Given the description of an element on the screen output the (x, y) to click on. 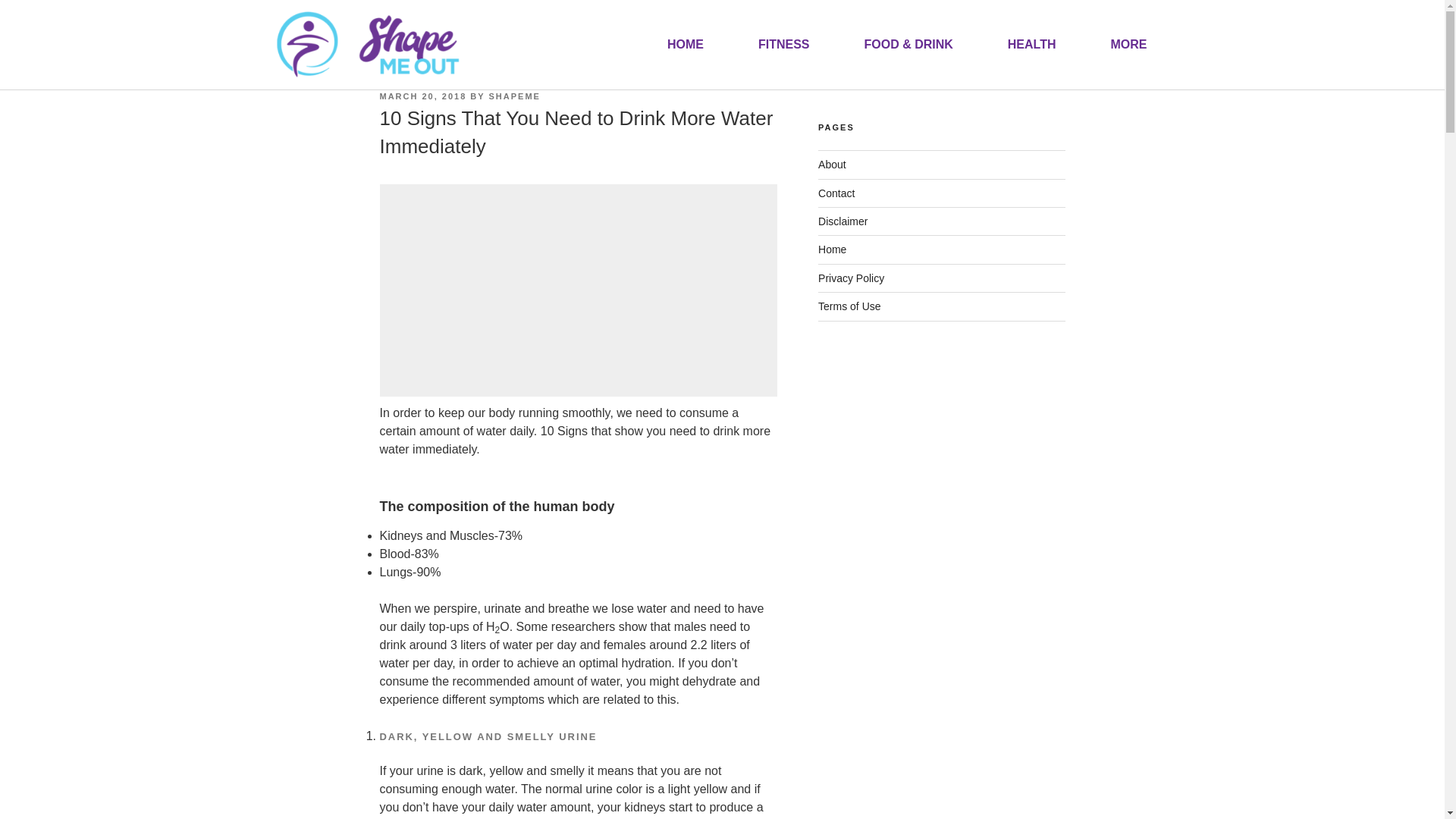
SHAPEME (514, 95)
About (831, 164)
Contact (836, 193)
Privacy Policy (850, 277)
HOME (685, 44)
HEALTH (1031, 44)
Terms of Use (849, 306)
Advertisement (578, 290)
FITNESS (783, 44)
MORE (1128, 44)
Disclaimer (842, 221)
MARCH 20, 2018 (421, 95)
Home (831, 249)
